Given the description of an element on the screen output the (x, y) to click on. 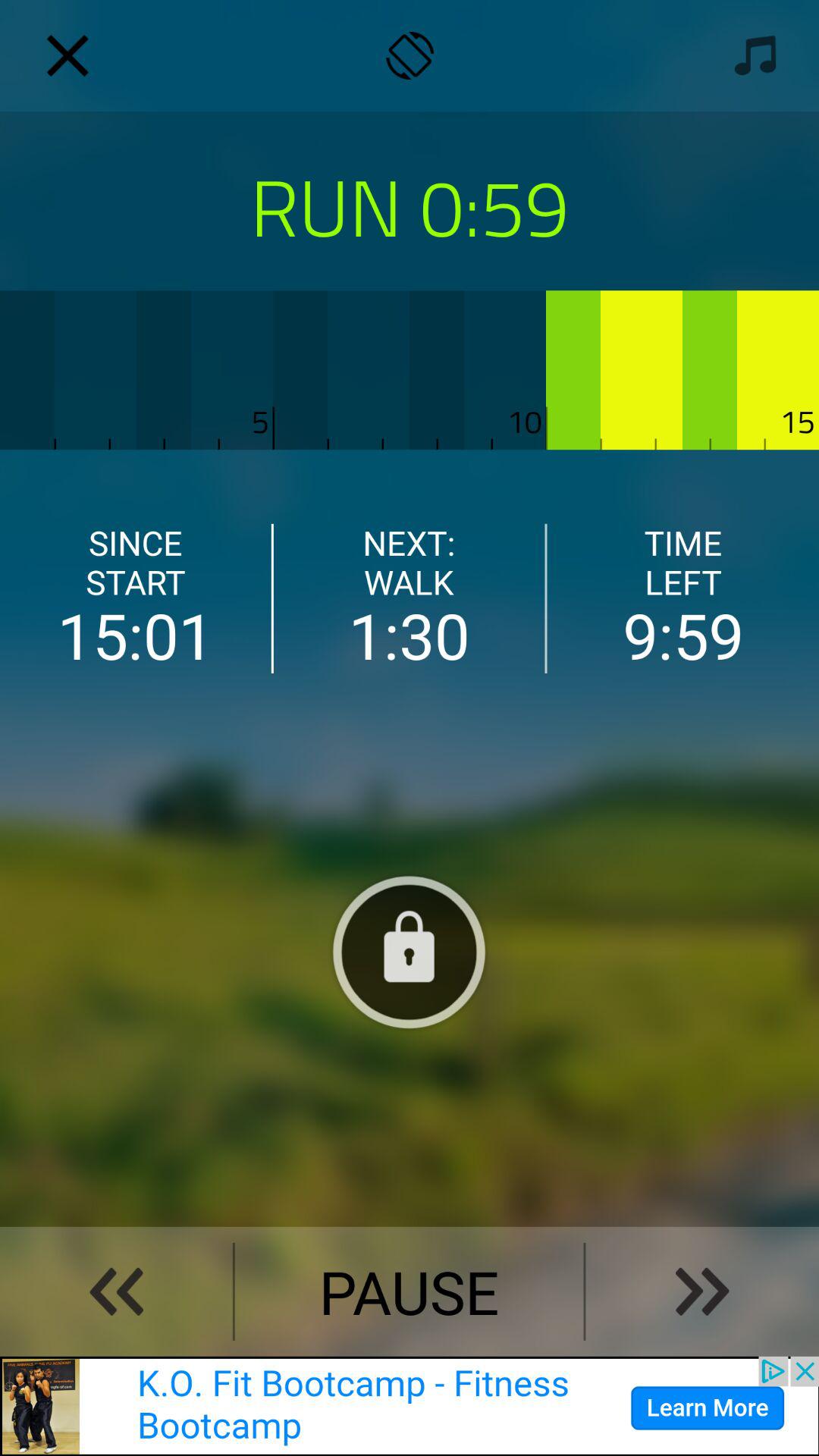
view the advertisement (409, 1406)
